Given the description of an element on the screen output the (x, y) to click on. 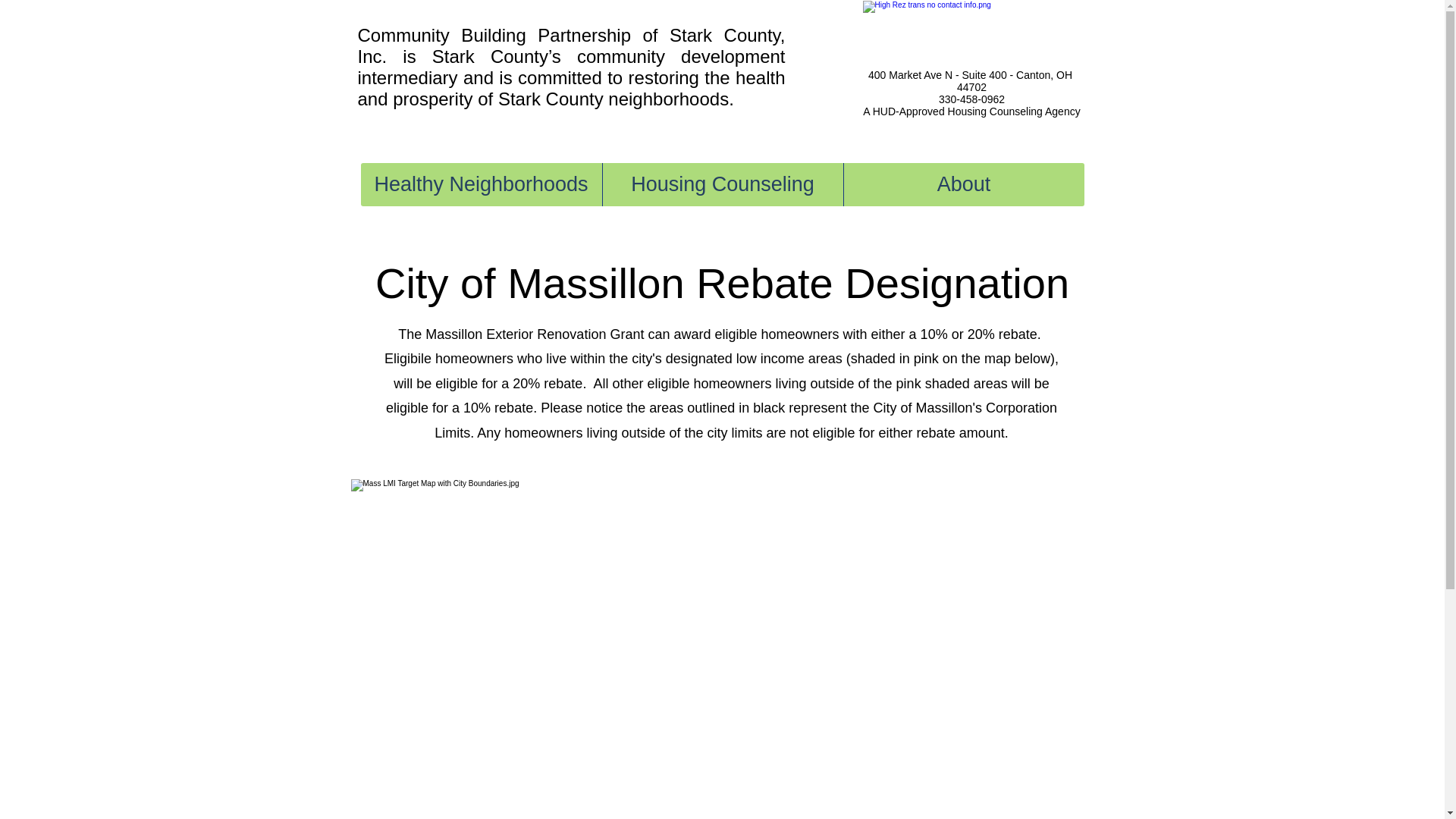
Housing Counseling (722, 184)
Community Building Partnership - logo (972, 49)
Healthy Neighborhoods (481, 184)
About (963, 184)
